Given the description of an element on the screen output the (x, y) to click on. 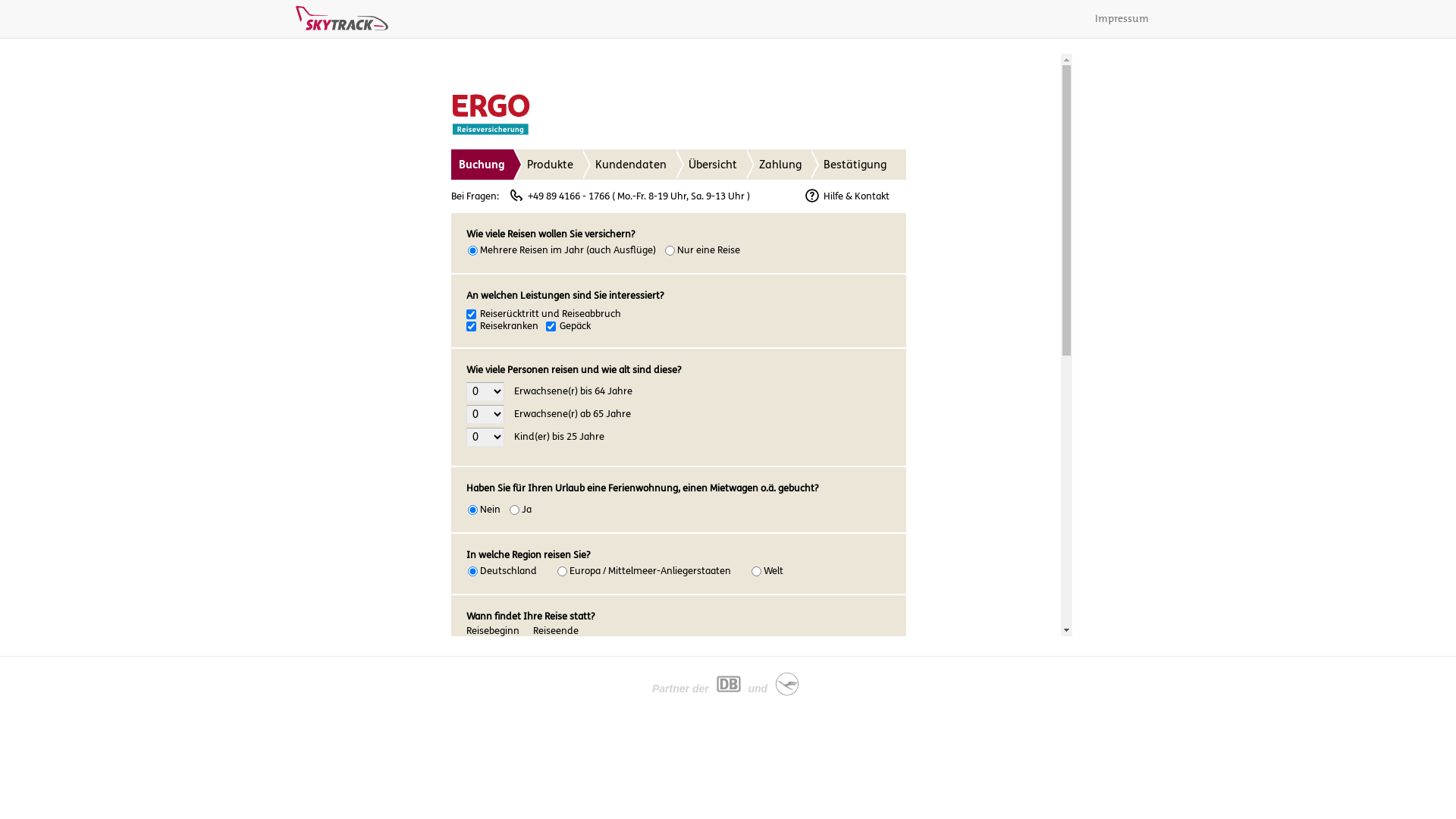
Impressum Element type: text (1121, 18)
